Given the description of an element on the screen output the (x, y) to click on. 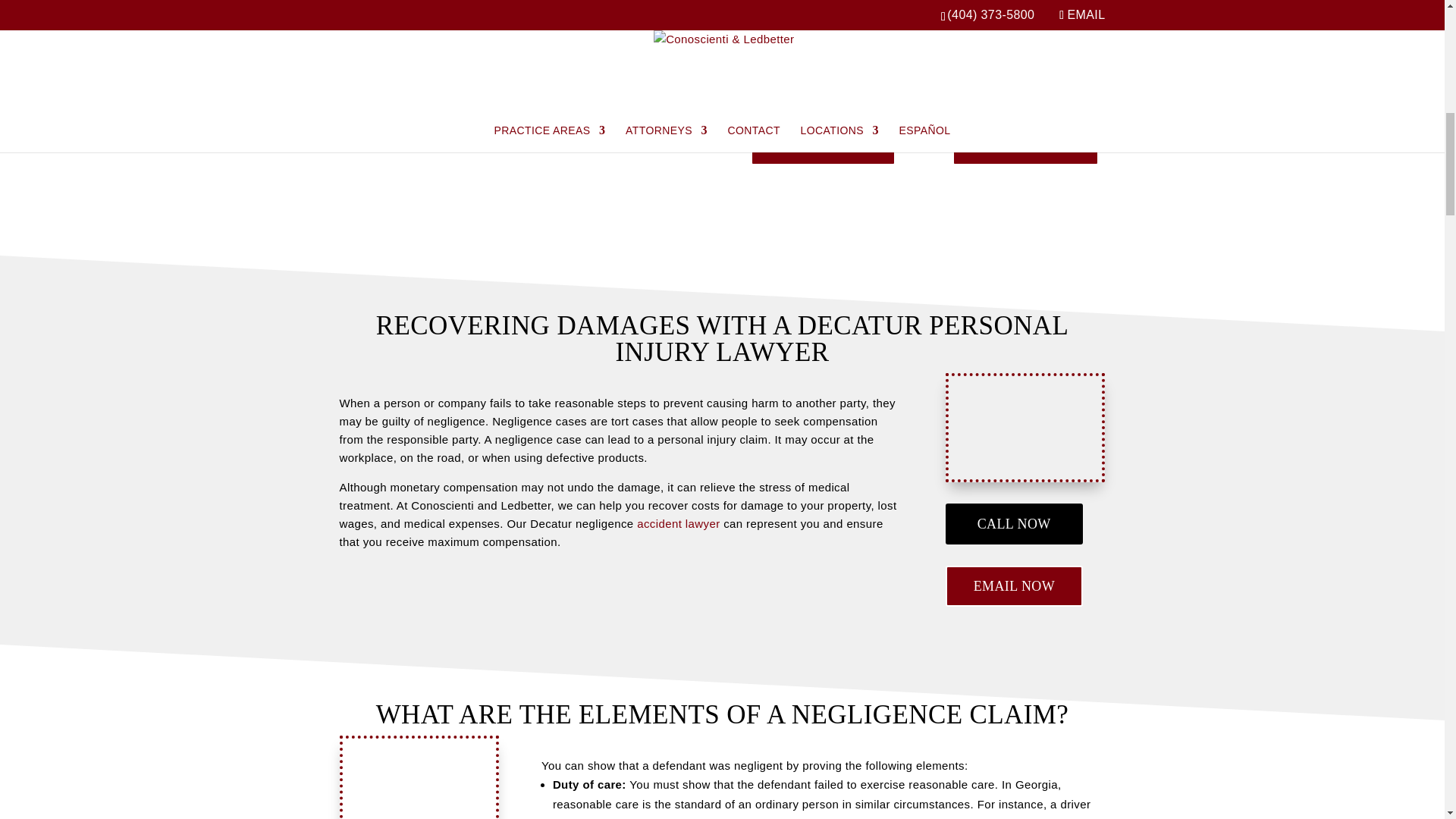
What Are the Elements of a Negligence Claim (419, 778)
EMAIL NOW (1025, 143)
accident lawyer (678, 522)
Decatur Negligence Accident Attorney sec (1025, 426)
CALL NOW (823, 143)
